Given the description of an element on the screen output the (x, y) to click on. 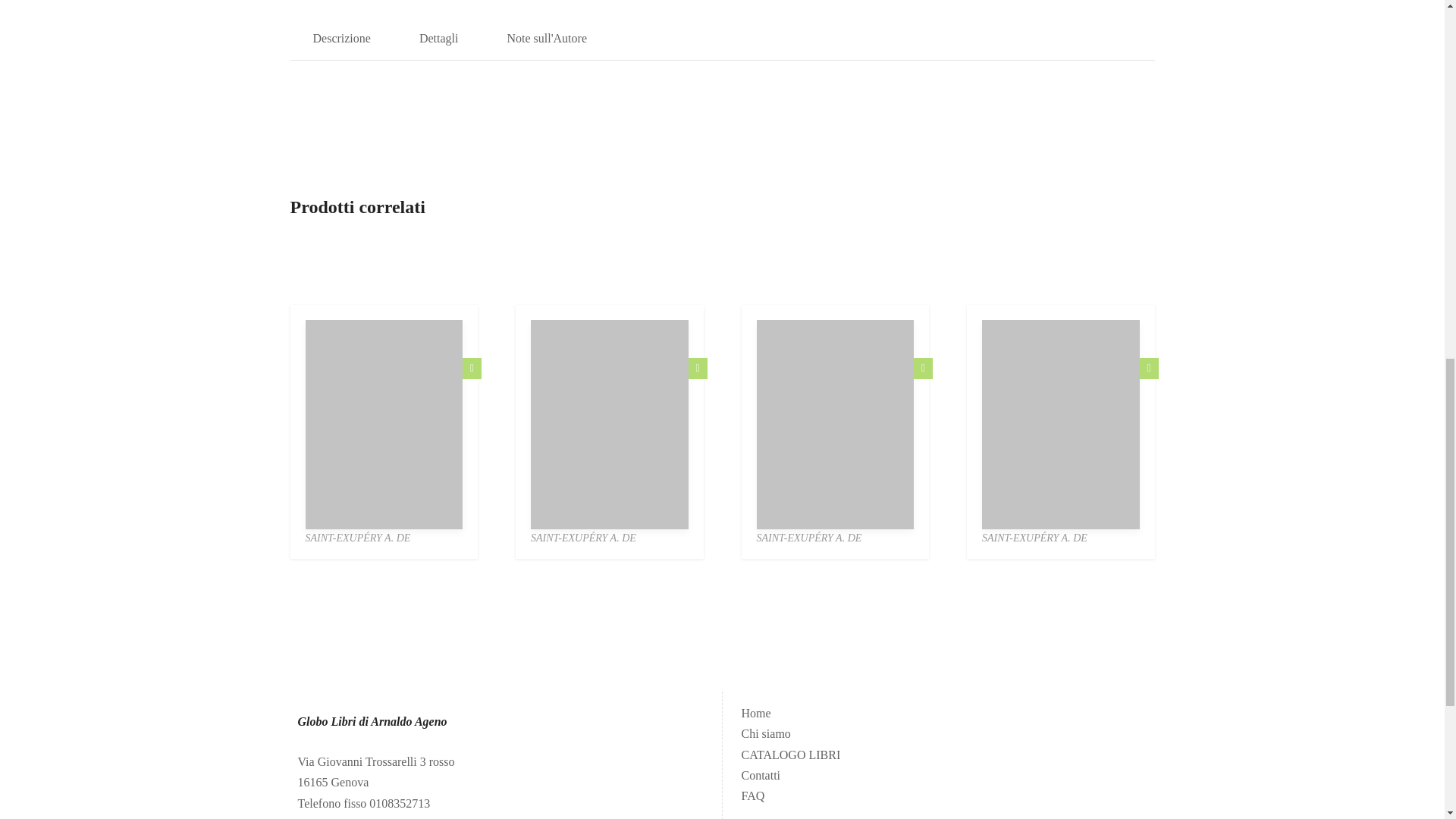
Descrizione (341, 37)
Note sull'Autore (546, 37)
Dettagli (438, 37)
